Given the description of an element on the screen output the (x, y) to click on. 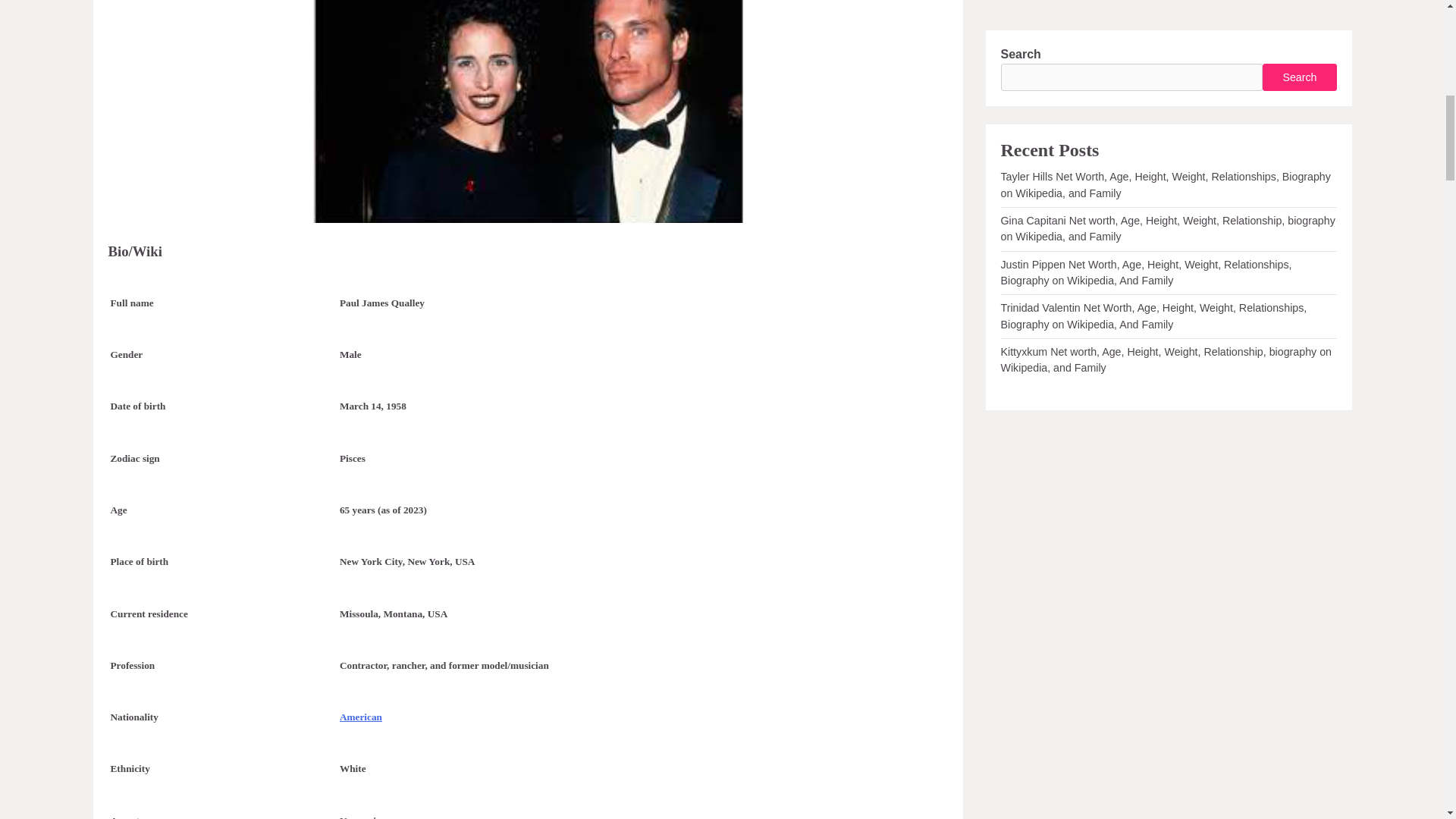
American (360, 716)
